Given the description of an element on the screen output the (x, y) to click on. 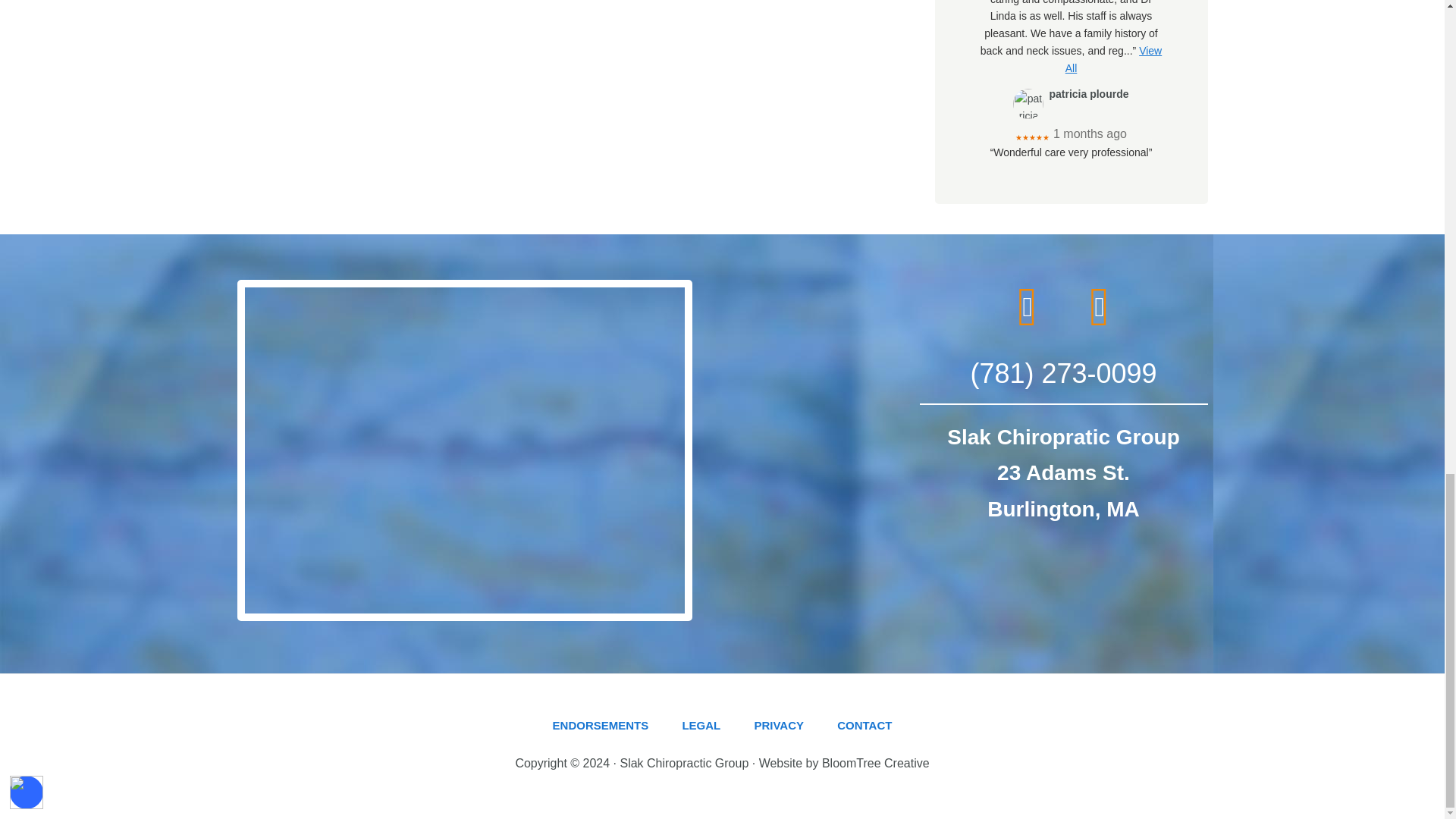
patricia plourde (1028, 103)
PRIVACY (778, 728)
ENDORSEMENTS (600, 728)
View All (1113, 59)
CONTACT (864, 728)
LEGAL (700, 728)
